Given the description of an element on the screen output the (x, y) to click on. 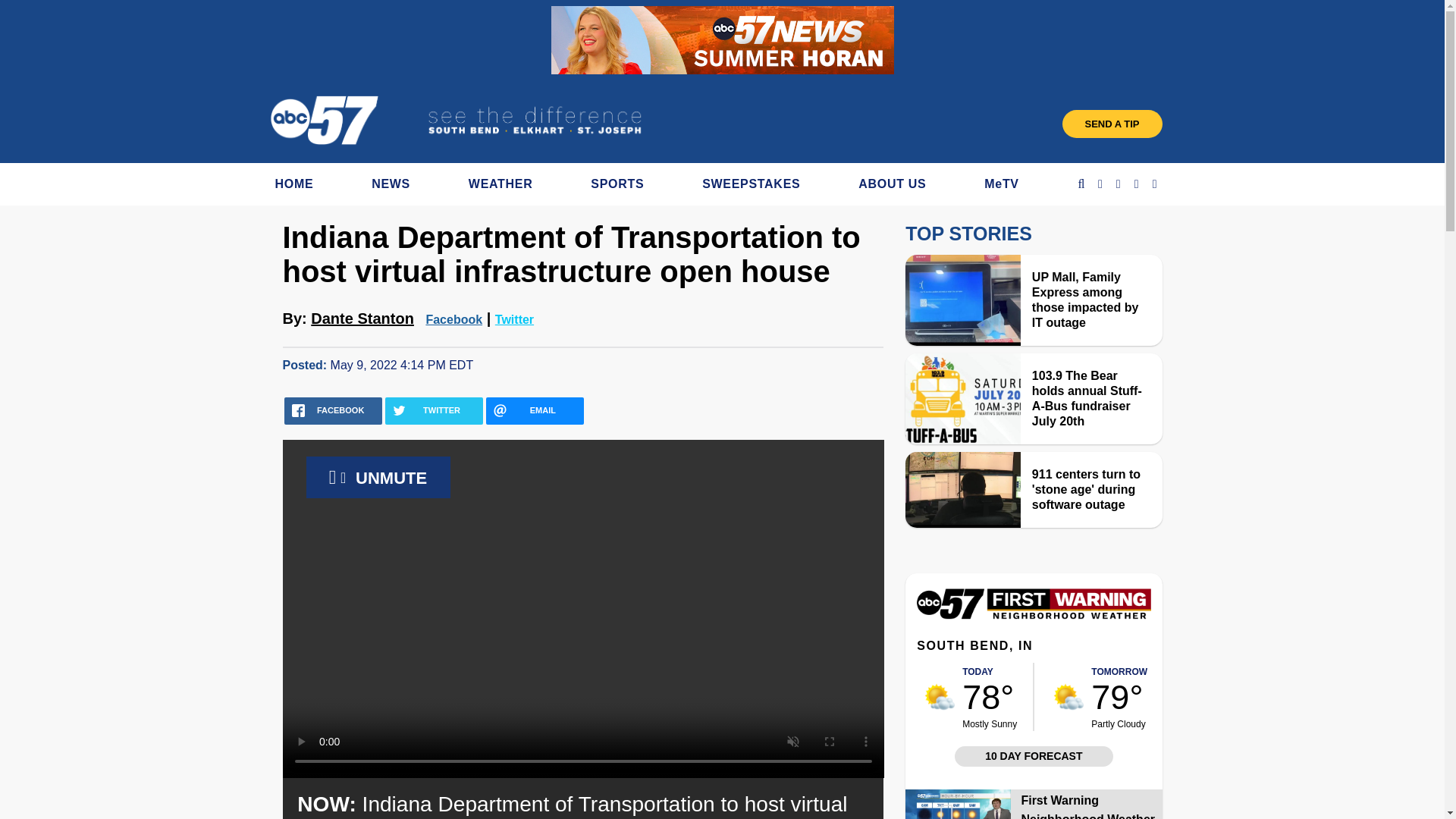
weather (939, 696)
Weather (1033, 615)
